Given the description of an element on the screen output the (x, y) to click on. 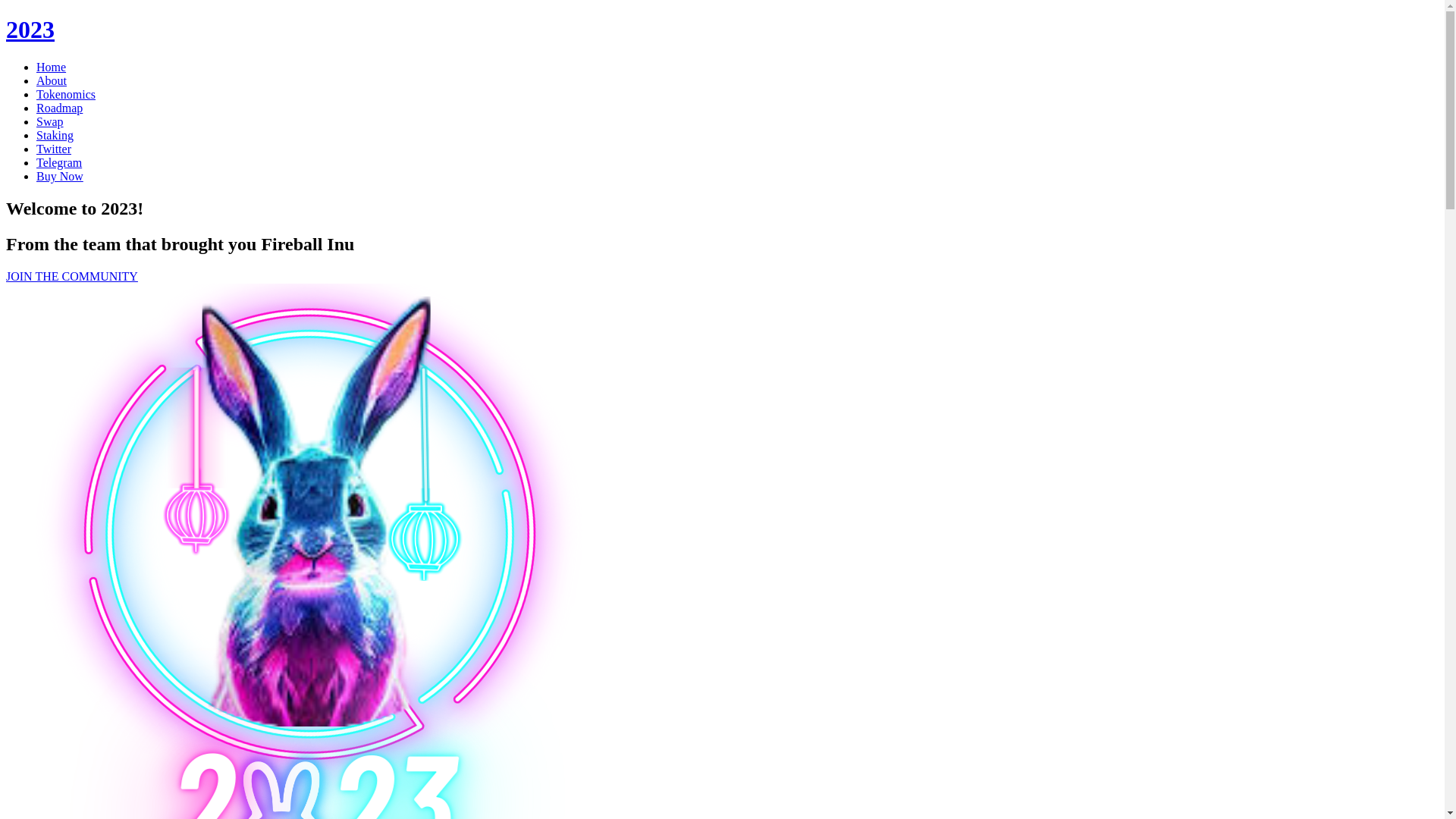
Home Element type: text (50, 66)
Telegram Element type: text (58, 162)
JOIN THE COMMUNITY Element type: text (72, 275)
Twitter Element type: text (53, 148)
Swap Element type: text (49, 121)
Staking Element type: text (54, 134)
2023 Element type: text (30, 29)
Roadmap Element type: text (59, 107)
Tokenomics Element type: text (65, 93)
About Element type: text (51, 80)
Buy Now Element type: text (59, 175)
